Given the description of an element on the screen output the (x, y) to click on. 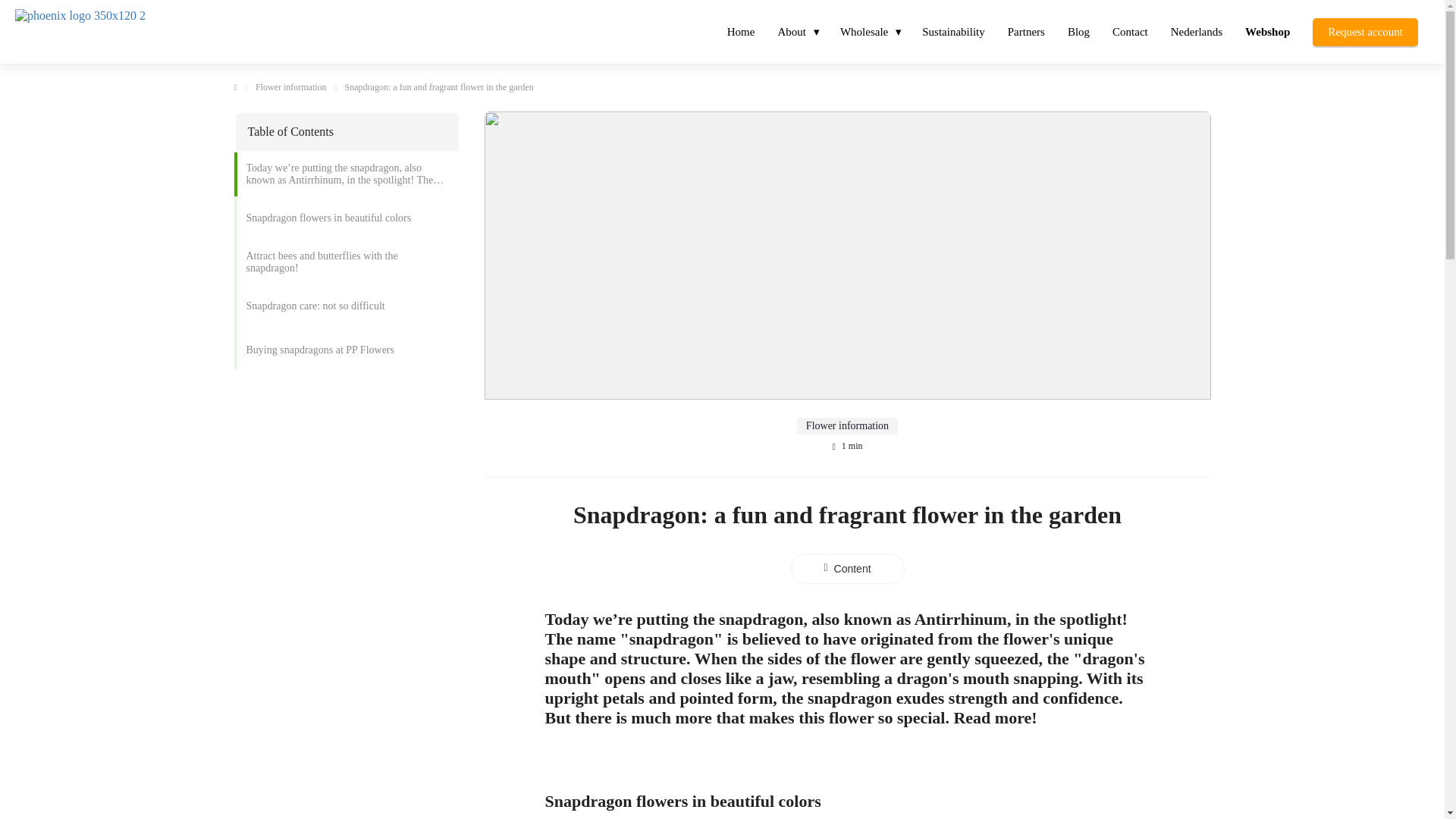
Partners (1026, 30)
Nederlands (1195, 30)
Logo (147, 31)
Webshop (1267, 30)
Blog (1078, 30)
Request account (1365, 30)
Snapdragon: a fun and fragrant flower in the garden (439, 87)
Flower information (291, 87)
Sustainability (953, 30)
Home (741, 30)
